Given the description of an element on the screen output the (x, y) to click on. 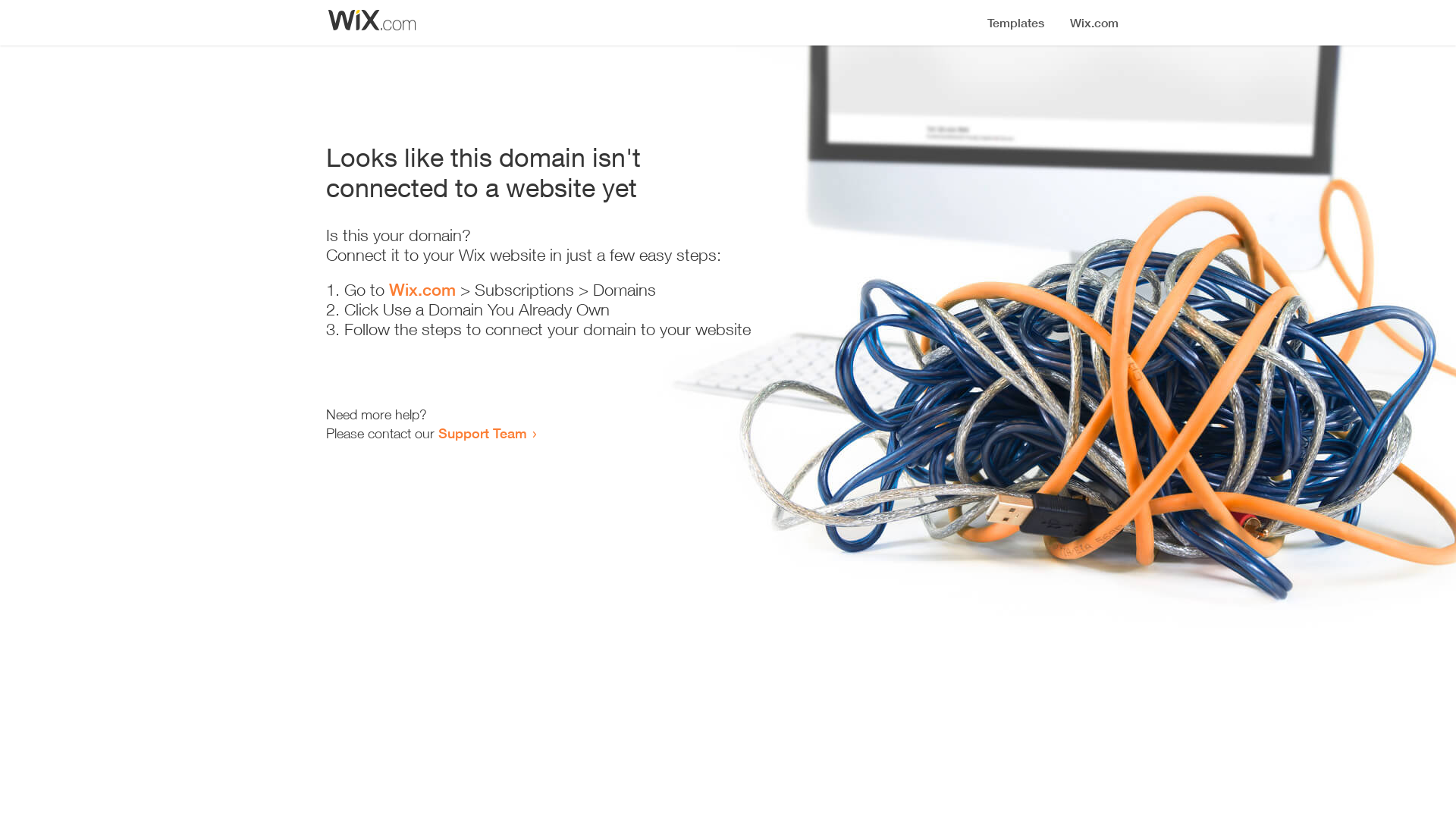
Wix.com Element type: text (422, 289)
Support Team Element type: text (482, 432)
